Given the description of an element on the screen output the (x, y) to click on. 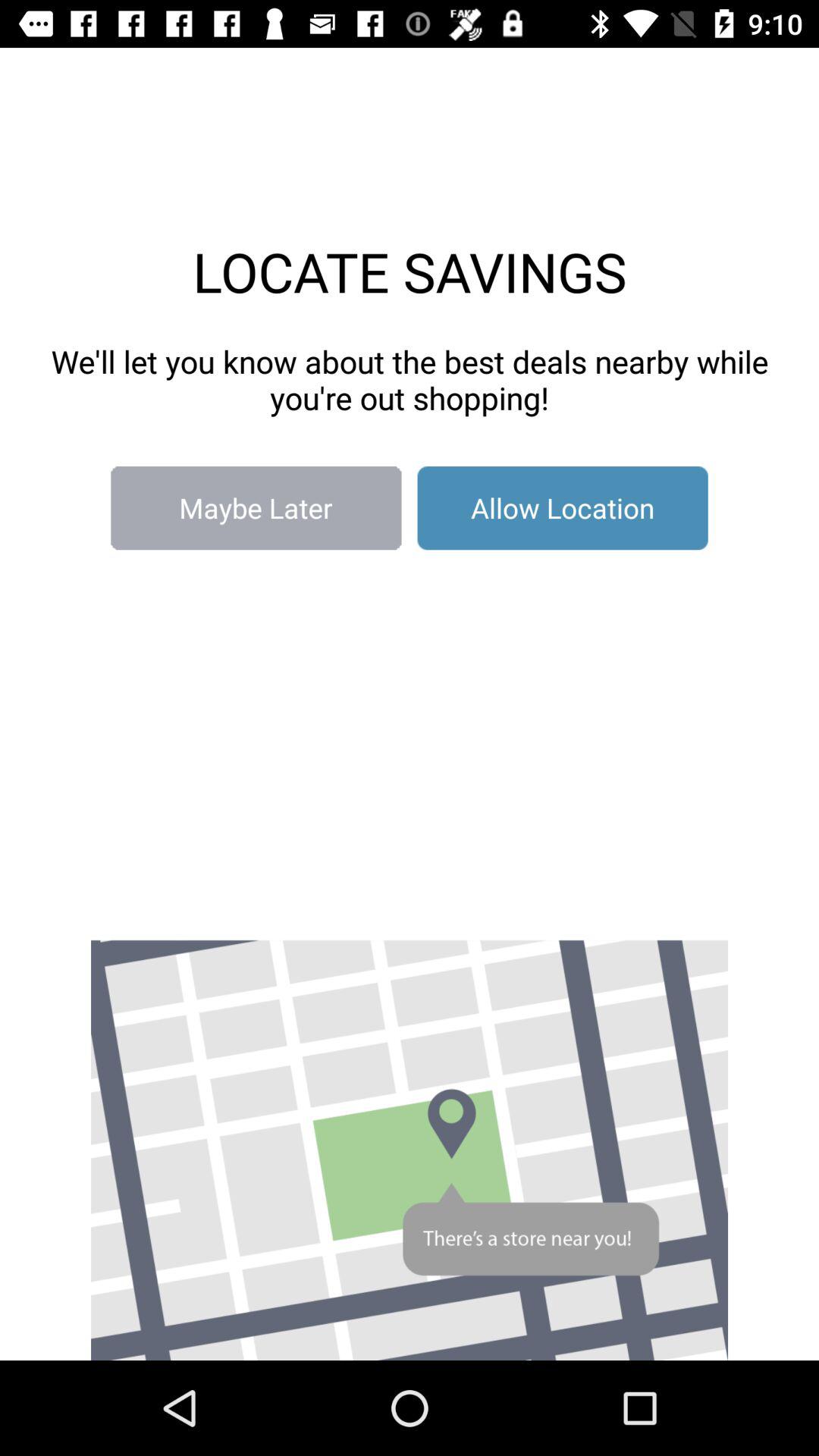
launch icon below the we ll let (255, 507)
